Given the description of an element on the screen output the (x, y) to click on. 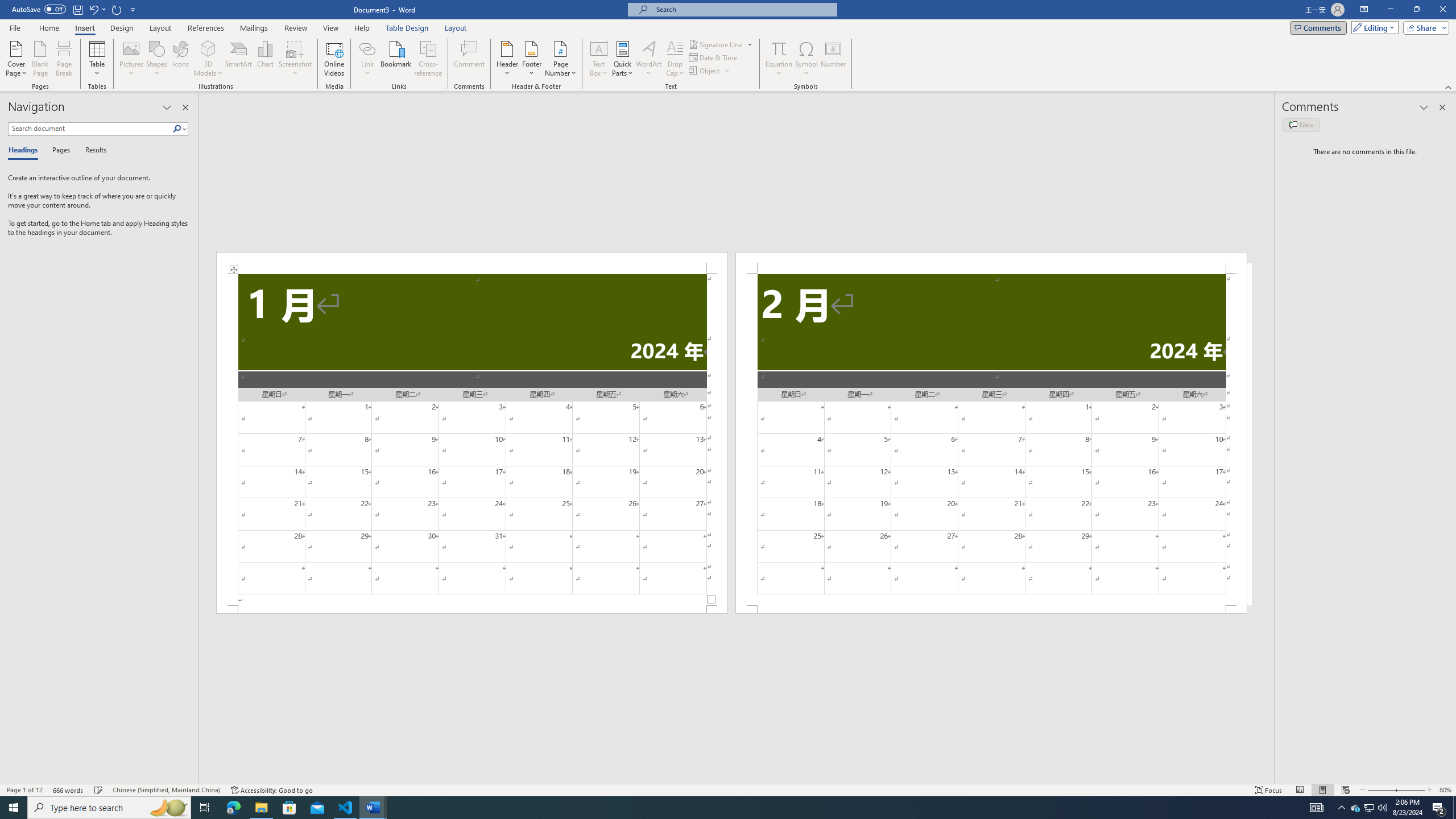
Search (179, 128)
Bookmark... (396, 58)
Search (177, 128)
3D Models (208, 48)
Layout (455, 28)
Footer -Section 2- (991, 609)
AutoSave (38, 9)
Date & Time... (714, 56)
Link (367, 58)
Accessibility Checker Accessibility: Good to go (271, 790)
Help (361, 28)
Table (97, 58)
Header -Section 1- (471, 263)
Header -Section 2- (991, 263)
Focus  (1268, 790)
